Given the description of an element on the screen output the (x, y) to click on. 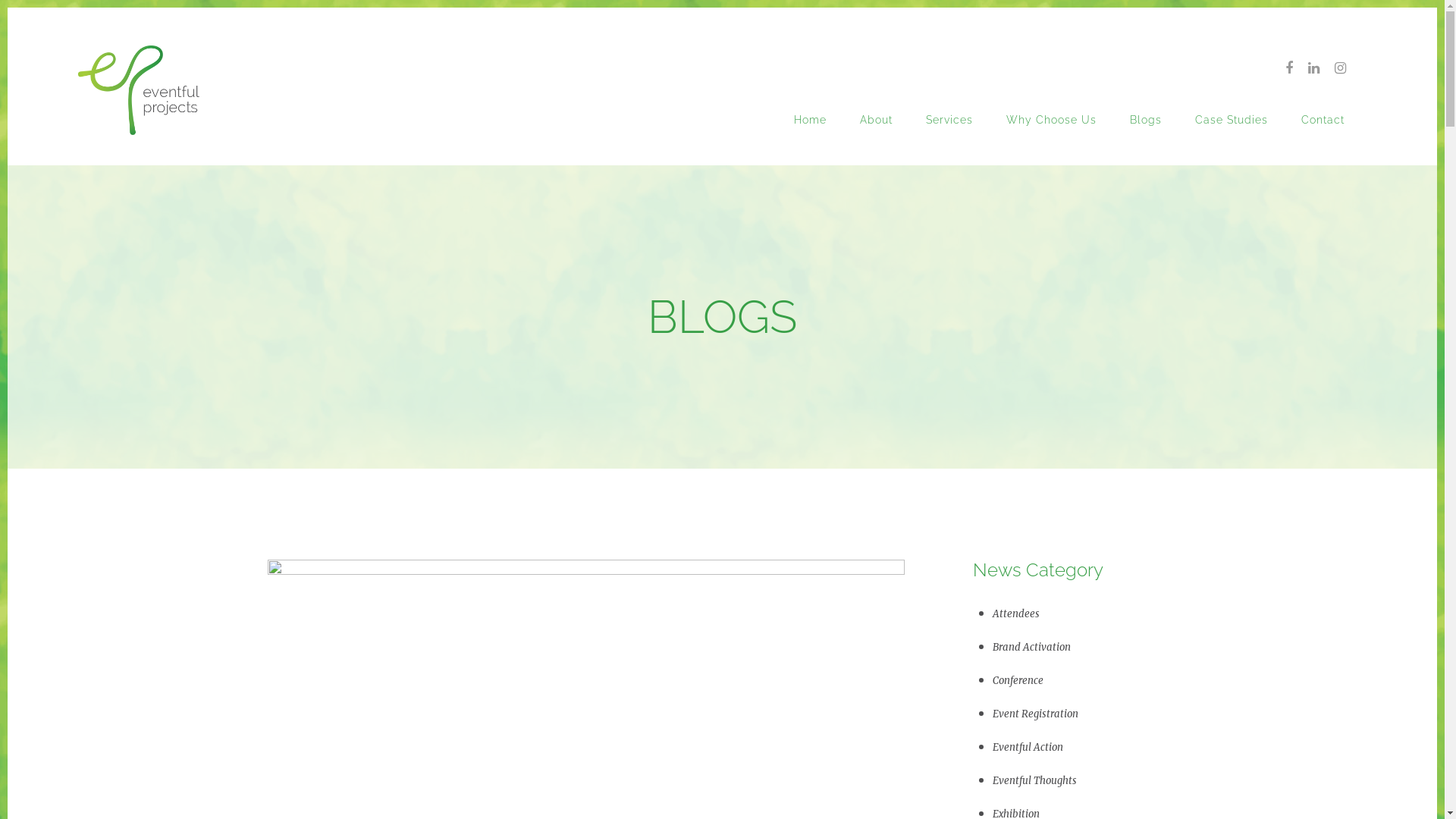
Event Registration Element type: text (1034, 713)
Home Element type: text (809, 120)
Case Studies Element type: text (1231, 120)
Services Element type: text (948, 120)
Blogs Element type: text (1145, 120)
Why Choose Us Element type: text (1050, 120)
Brand Activation Element type: text (1030, 646)
Conference Element type: text (1016, 680)
About Element type: text (875, 120)
Contact Element type: text (1322, 120)
Eventful Action Element type: text (1026, 746)
Eventful Thoughts Element type: text (1033, 780)
Attendees Element type: text (1014, 613)
